Given the description of an element on the screen output the (x, y) to click on. 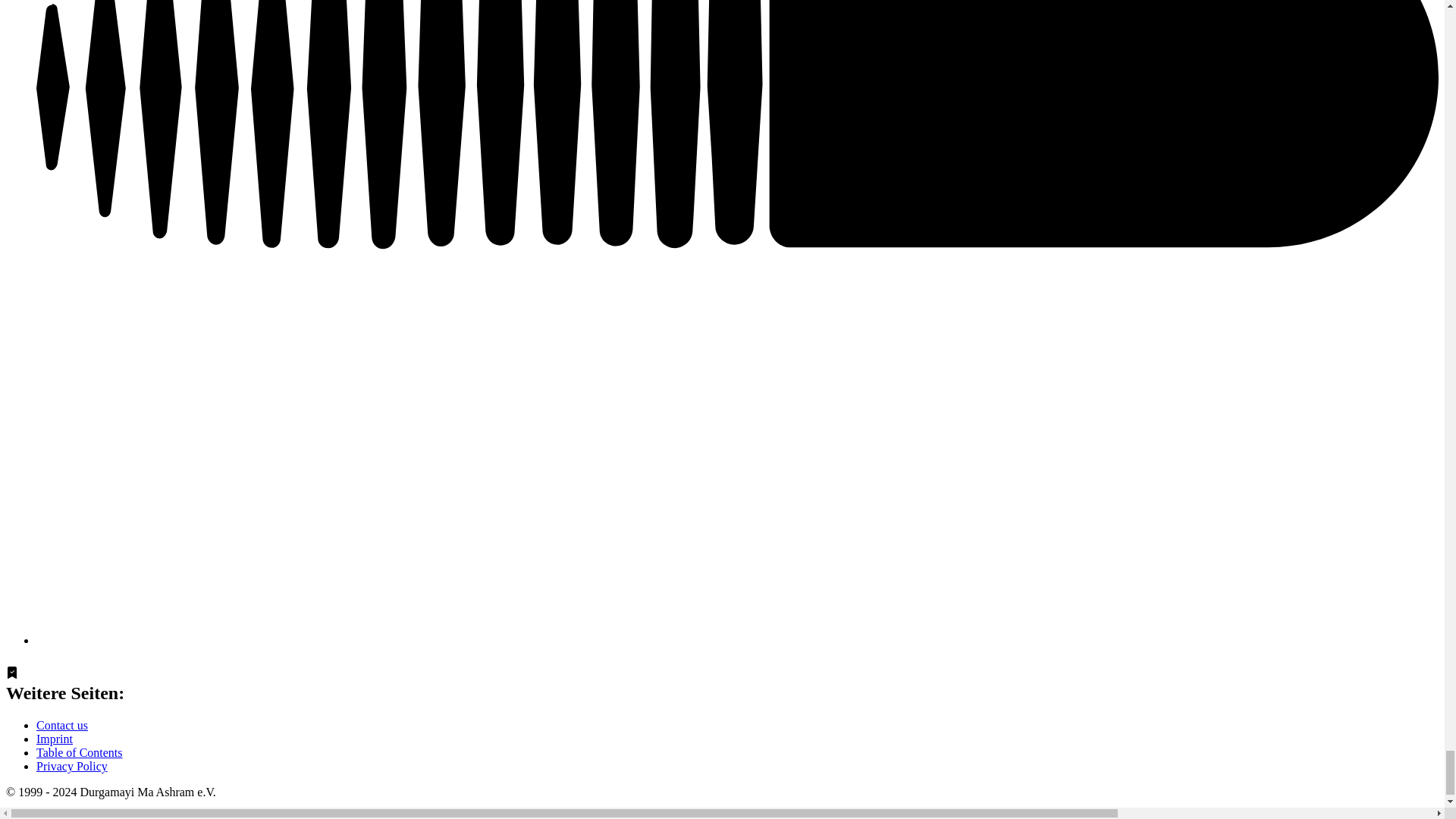
Table of Contents (79, 752)
Contact us (61, 725)
Imprint (54, 738)
